Given the description of an element on the screen output the (x, y) to click on. 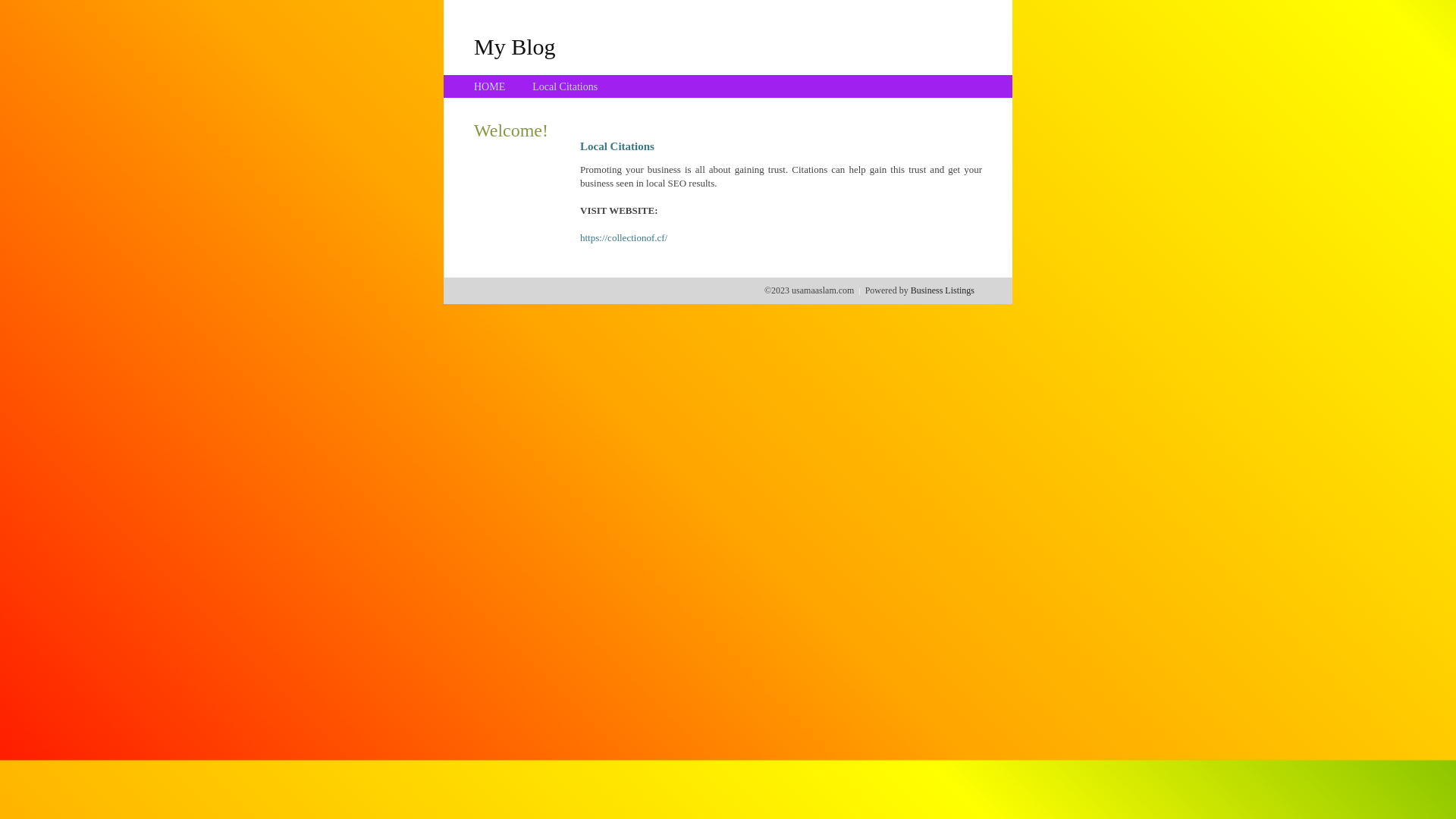
My Blog Element type: text (514, 46)
https://collectionof.cf/ Element type: text (623, 237)
Business Listings Element type: text (942, 290)
HOME Element type: text (489, 86)
Local Citations Element type: text (564, 86)
